Given the description of an element on the screen output the (x, y) to click on. 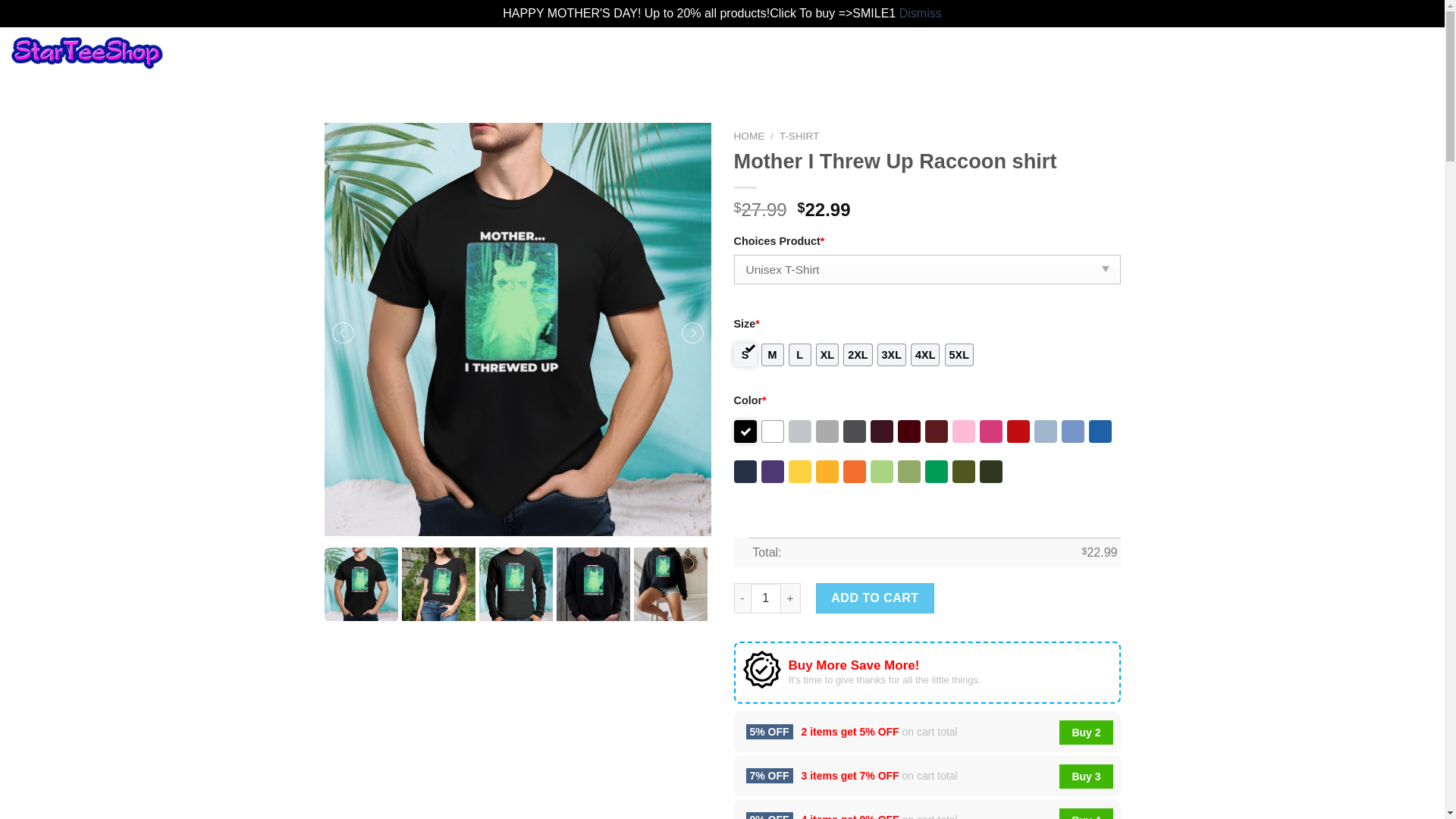
FAQS (239, 59)
Cart (1387, 59)
CONTACT (287, 59)
1 (765, 598)
HOME (749, 135)
T-SHIRT (798, 135)
ADD TO CART (874, 598)
STARTEESHOP ONLINE - Shopping T-shirts Store (87, 59)
HOME (200, 59)
Dismiss (920, 12)
